Given the description of an element on the screen output the (x, y) to click on. 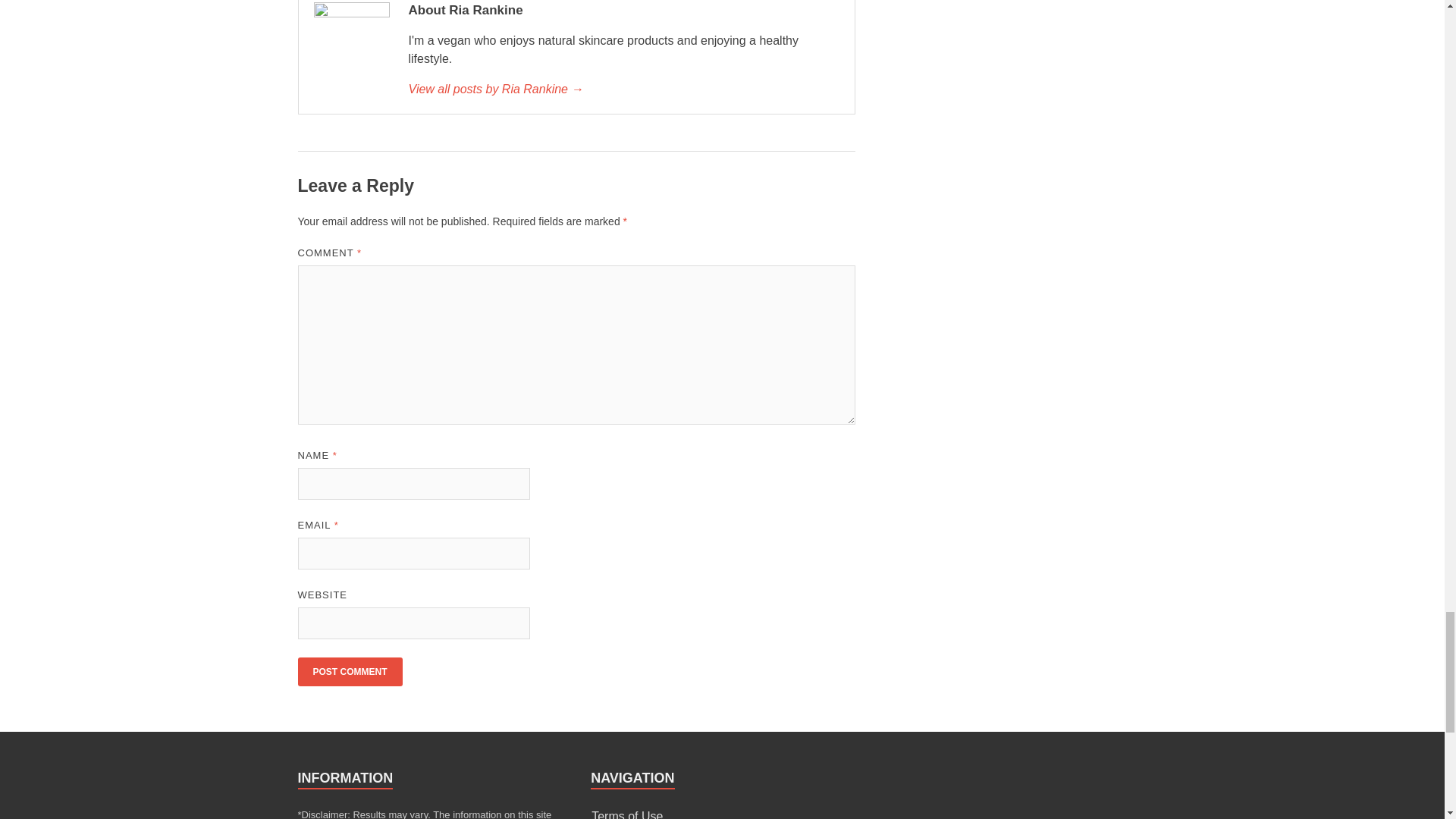
Post Comment (349, 671)
